Given the description of an element on the screen output the (x, y) to click on. 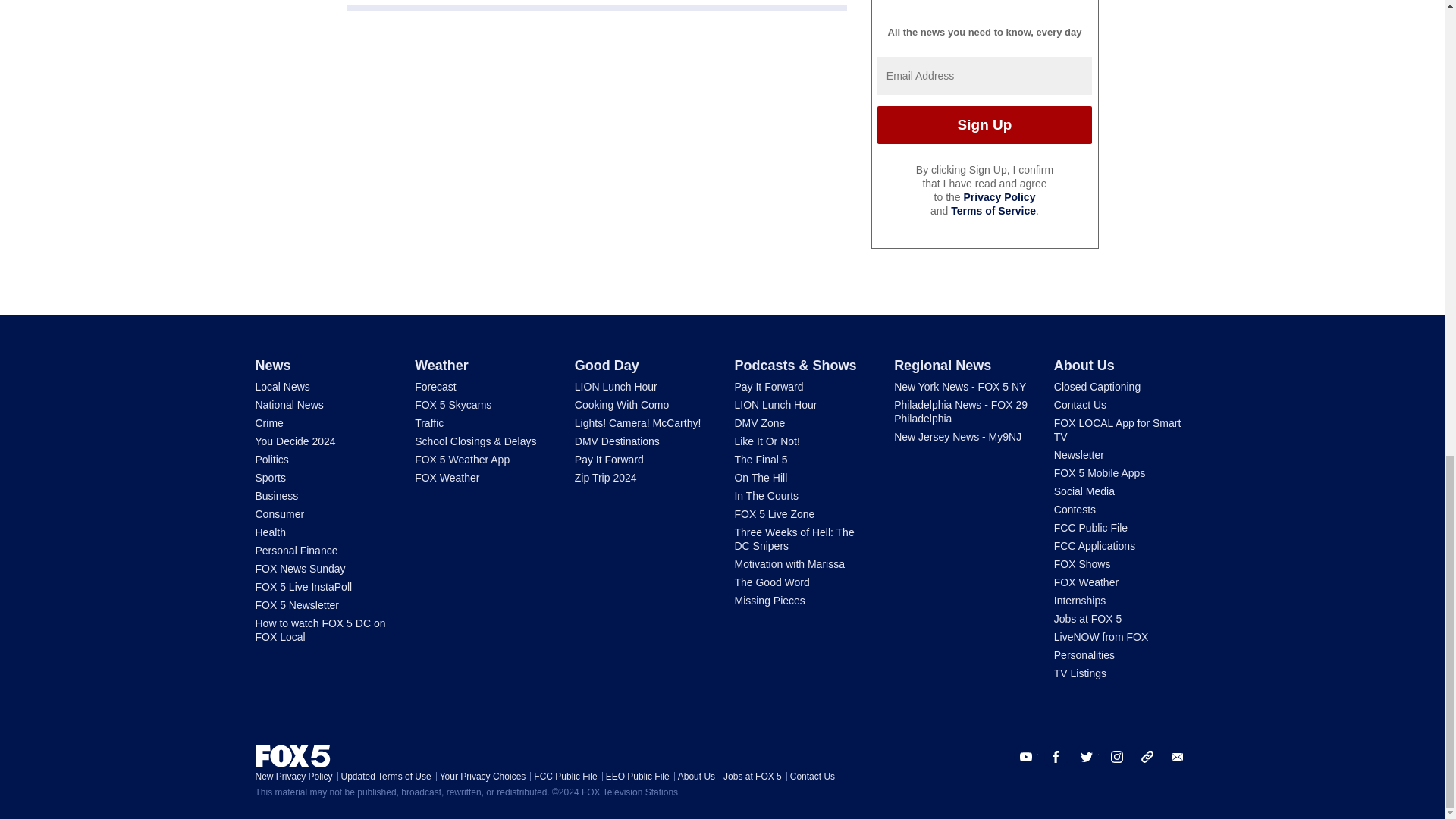
Sign Up (984, 125)
